Given the description of an element on the screen output the (x, y) to click on. 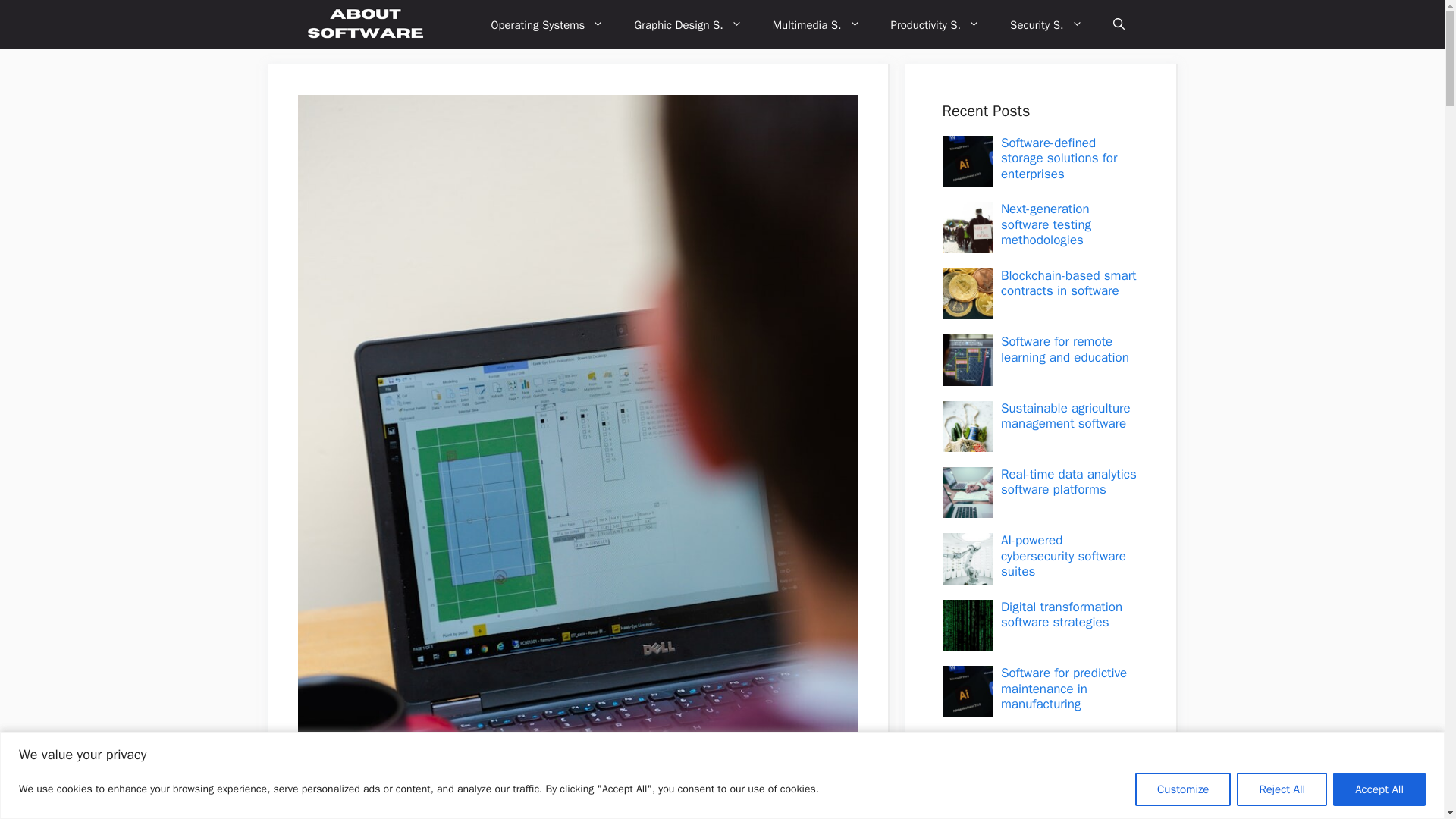
Operating Systems (548, 23)
Customize (1182, 788)
Graphic Design S. (687, 23)
Reject All (1281, 788)
Accept All (1379, 788)
